Given the description of an element on the screen output the (x, y) to click on. 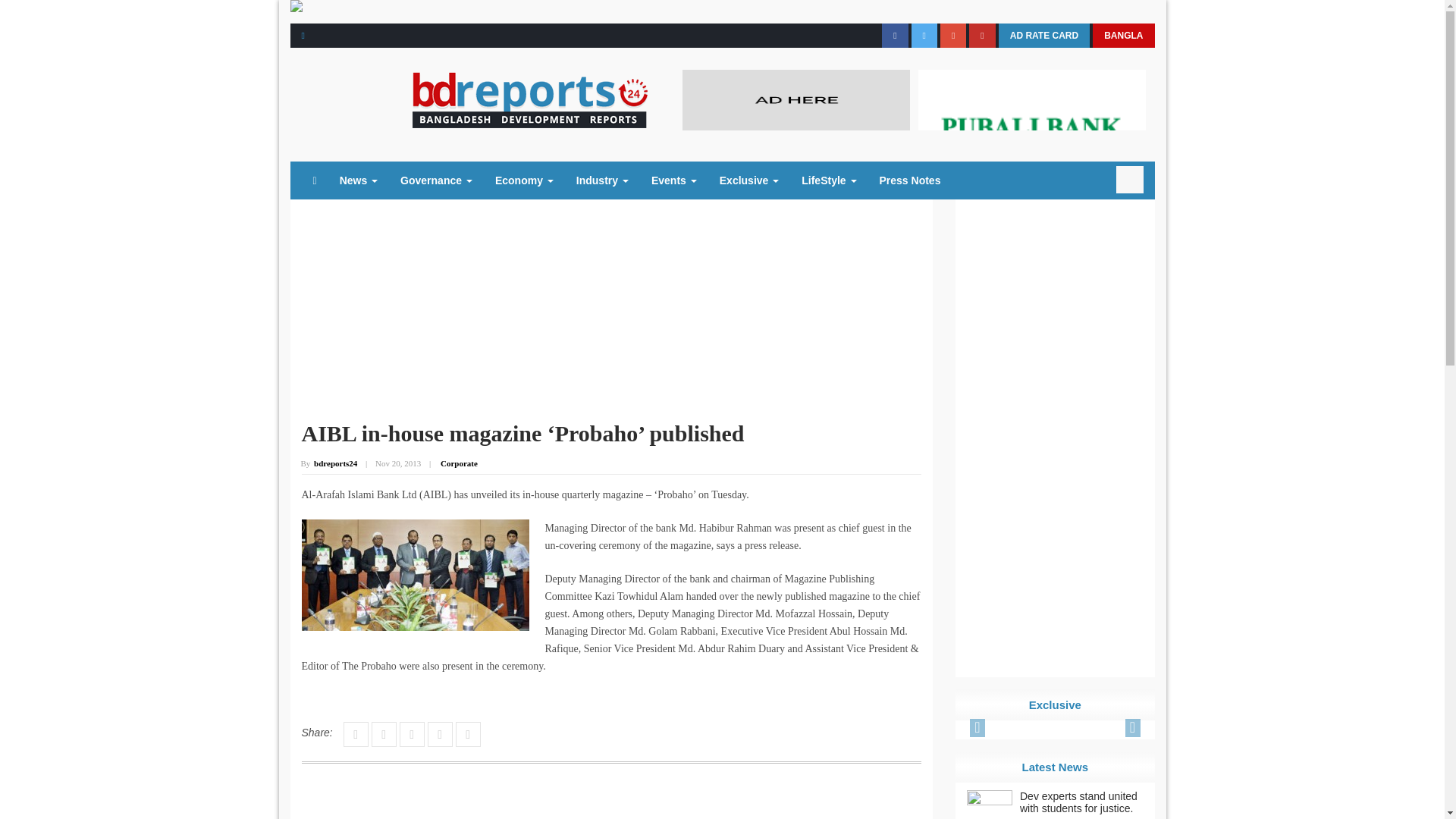
AD RATE CARD (1043, 35)
search (1129, 179)
Industry (602, 180)
Governance (435, 180)
Exclusive (748, 180)
News (358, 180)
Events (673, 180)
Governance (435, 180)
BANGLA (1123, 35)
Industry (602, 180)
Economy (523, 180)
News (358, 180)
Economy (523, 180)
